Given the description of an element on the screen output the (x, y) to click on. 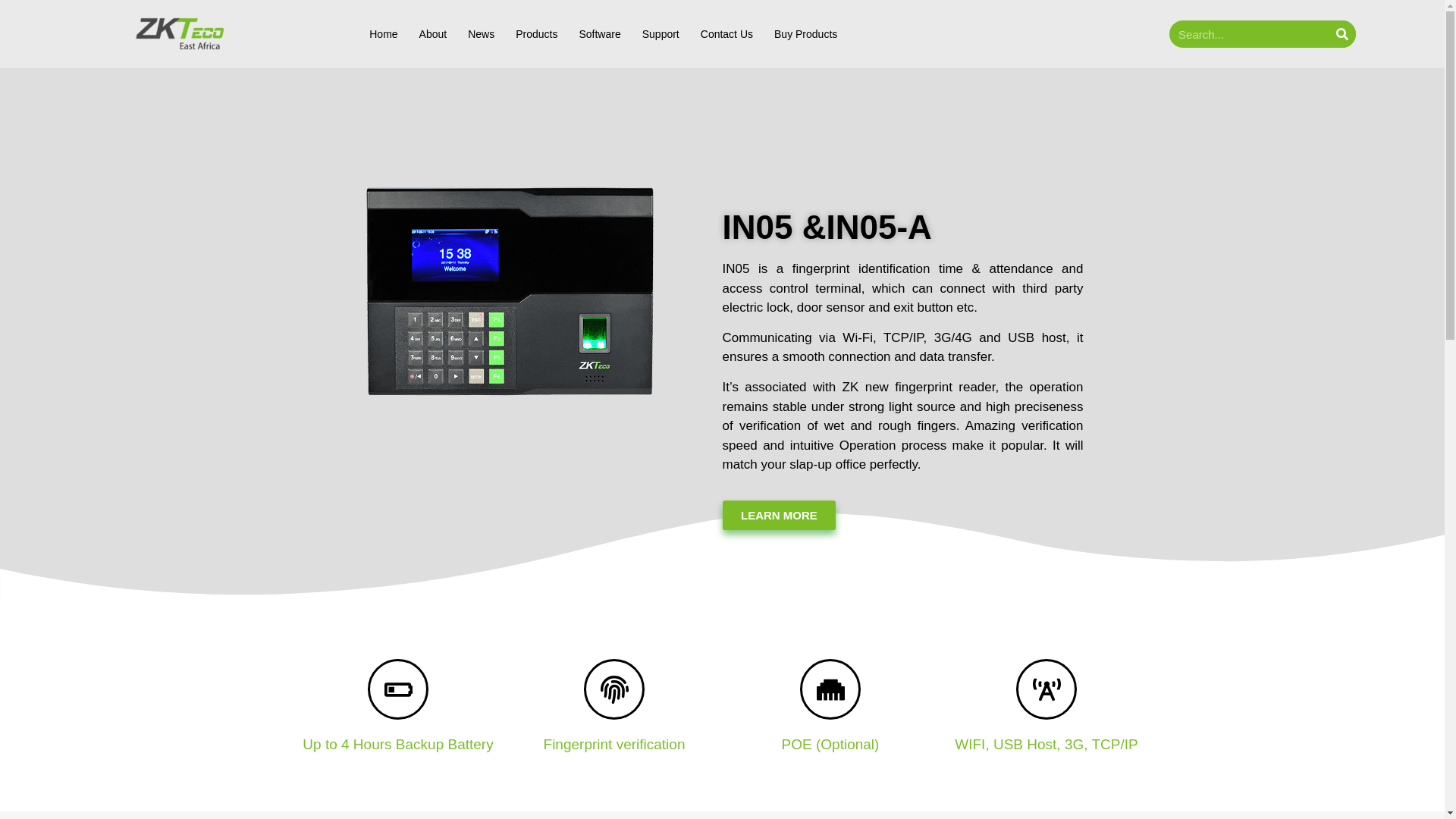
News (481, 33)
About (432, 33)
Products (536, 33)
Home (383, 33)
